Given the description of an element on the screen output the (x, y) to click on. 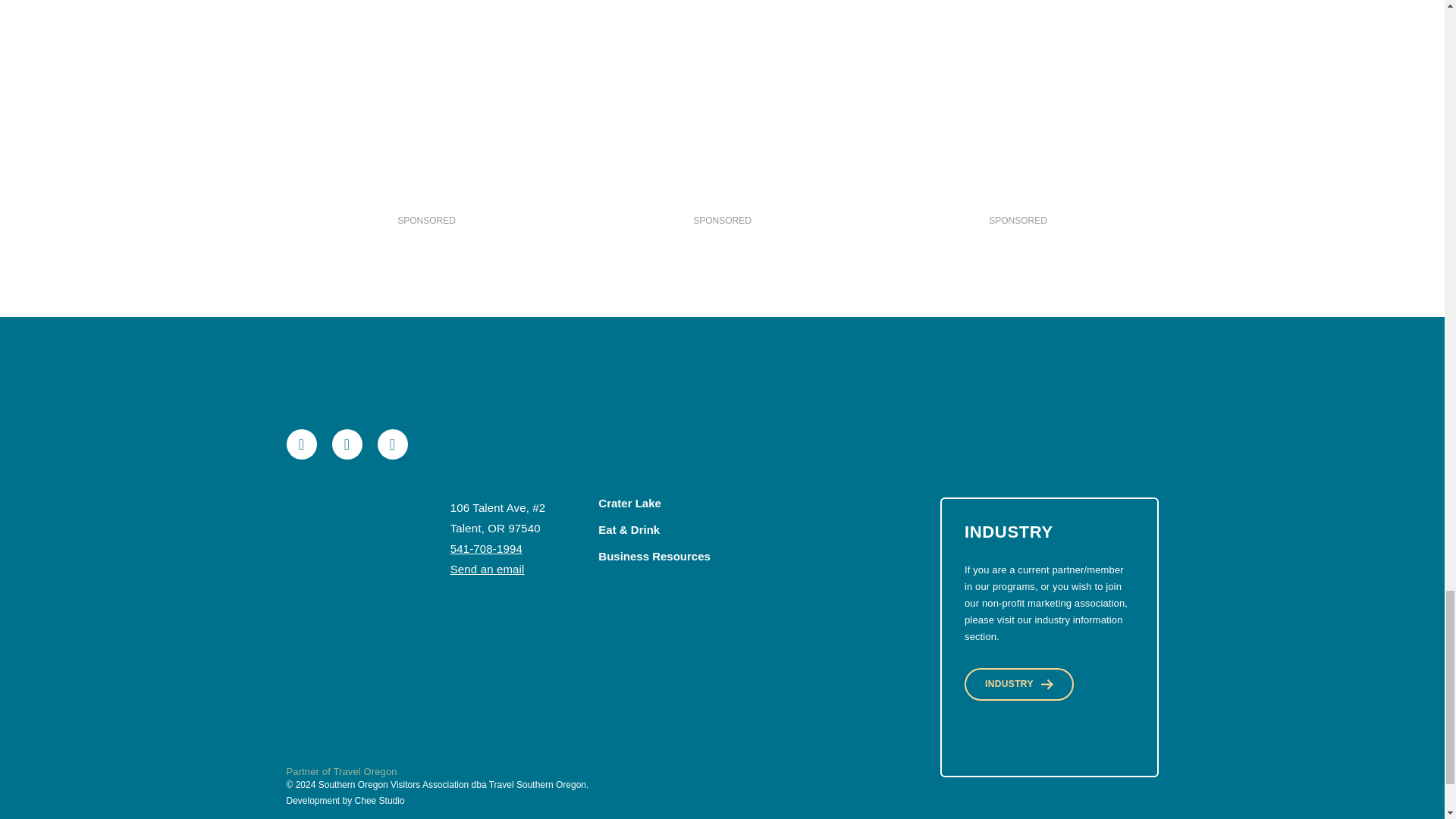
Link to Facebook in new tab (301, 444)
Industry (1018, 684)
Link to Twitter in new tab (346, 444)
Go to Top of Page (341, 552)
Link to Instagram in new tab (392, 444)
